Given the description of an element on the screen output the (x, y) to click on. 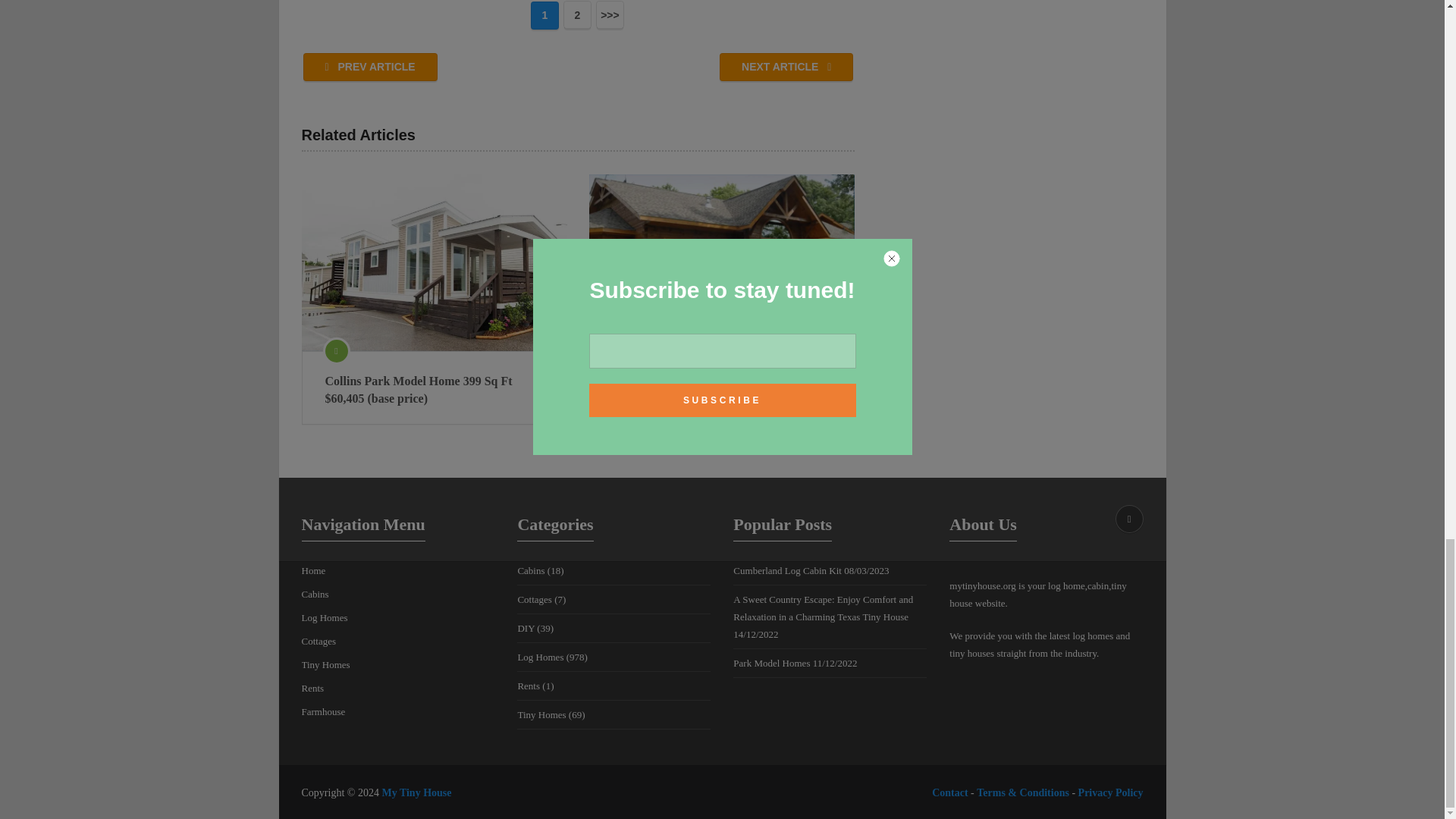
Cabins (530, 570)
Farmhouse (323, 711)
Rents (312, 687)
The 12 Mile Log House Is The Perfect Home For Any Family (721, 243)
2 (577, 14)
The 12 Mile Log House Is The Perfect Home For Any Family (721, 349)
Tiny Homes (325, 664)
Cottages (533, 599)
Cabins (315, 593)
NEXT ARTICLE (786, 67)
